Given the description of an element on the screen output the (x, y) to click on. 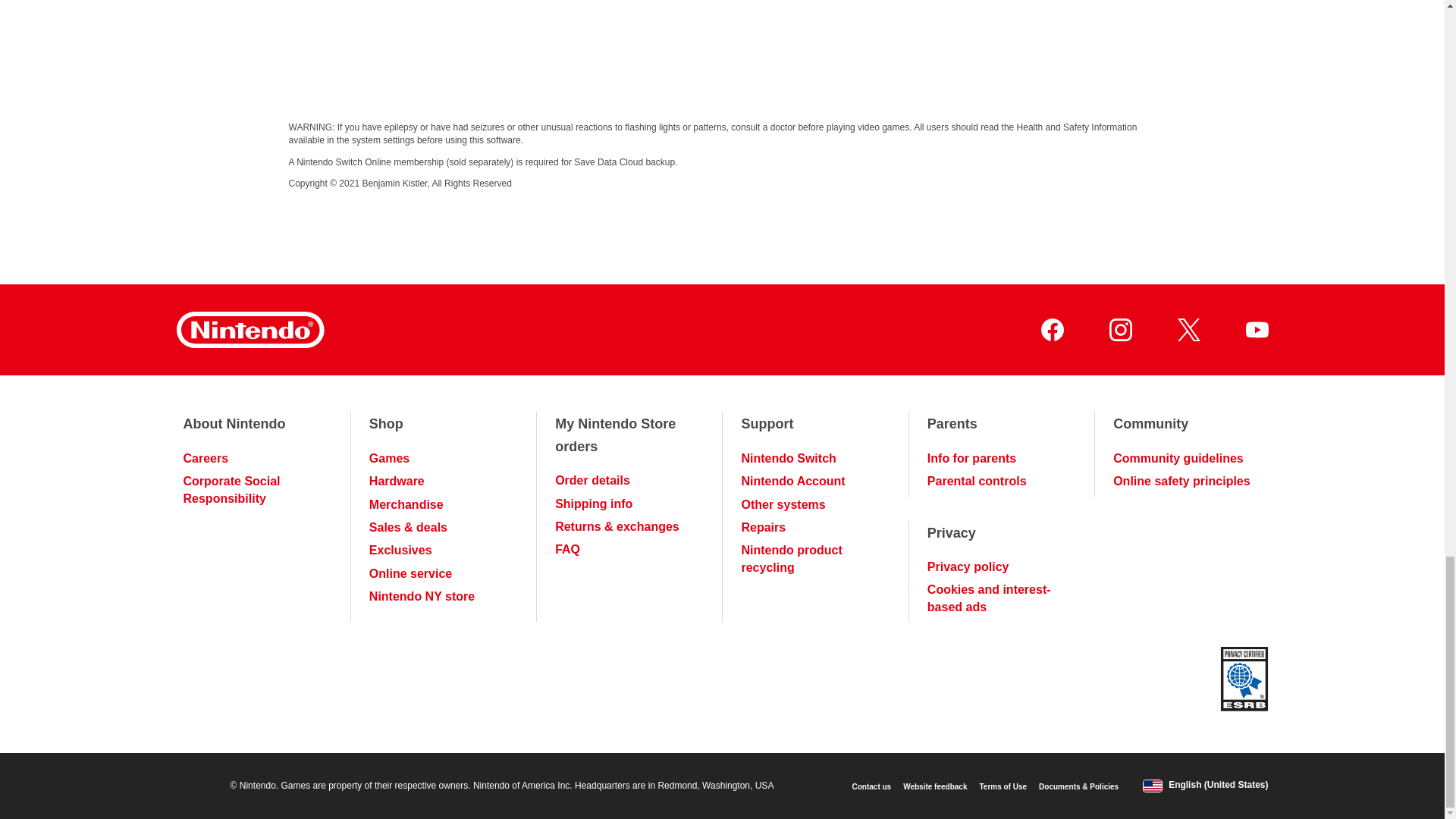
Nintendo on Facebook (1051, 329)
Nintendo on Instagram (1119, 329)
Nintendo on Twitter (1187, 329)
Nintendo Homepage (249, 330)
Nintendo on YouTube (1256, 329)
